Given the description of an element on the screen output the (x, y) to click on. 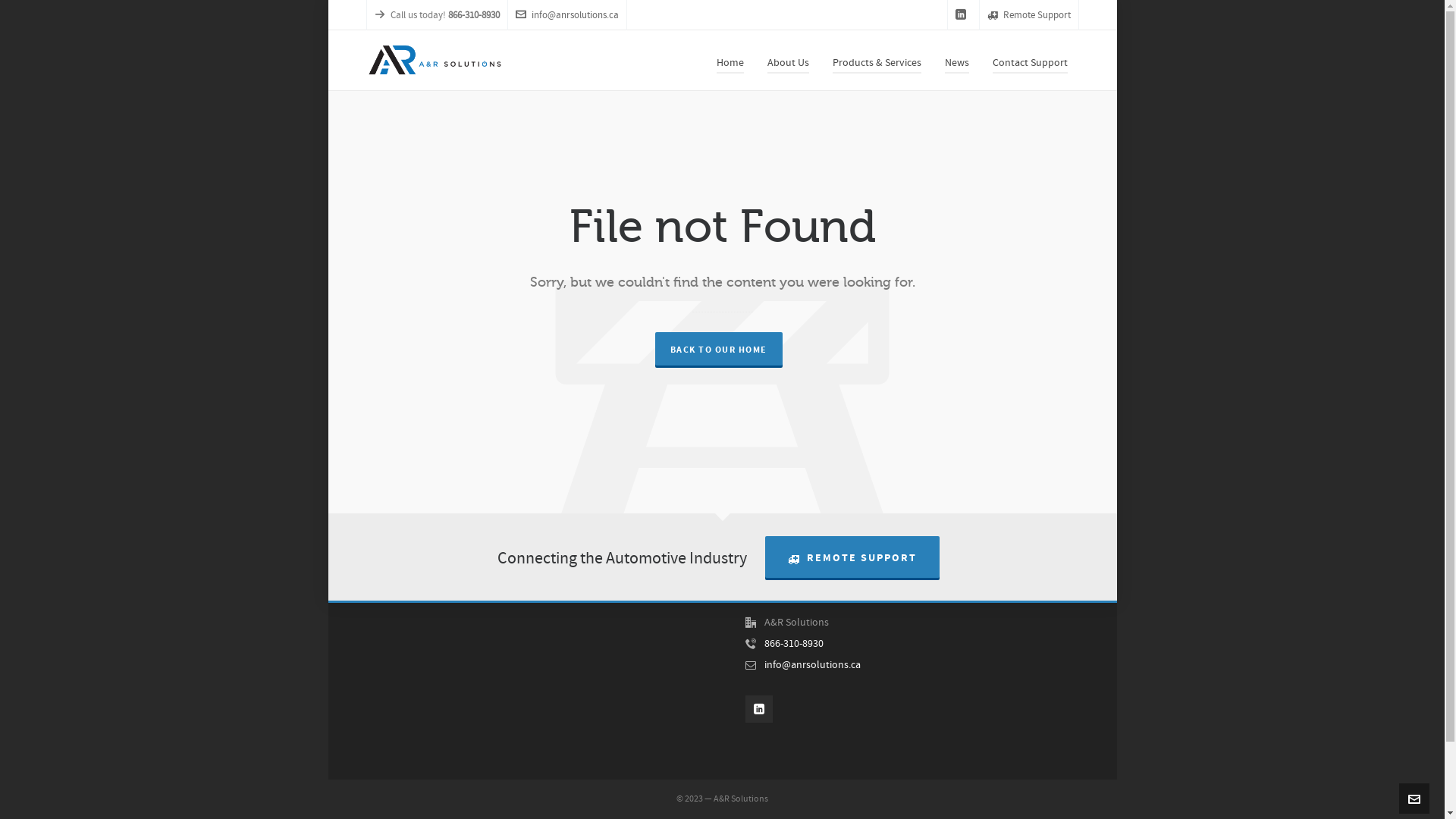
Products & Services Element type: text (875, 60)
info@anrsolutions.ca Element type: text (566, 15)
News Element type: text (955, 60)
Remote Support Element type: text (1028, 15)
info@anrsolutions.ca Element type: text (812, 664)
Home Element type: text (730, 60)
About Us Element type: text (787, 60)
Contact Support Element type: text (1030, 60)
866-310-8930 Element type: text (793, 643)
REMOTE SUPPORT Element type: text (852, 556)
BACK TO OUR HOME Element type: text (718, 348)
